Given the description of an element on the screen output the (x, y) to click on. 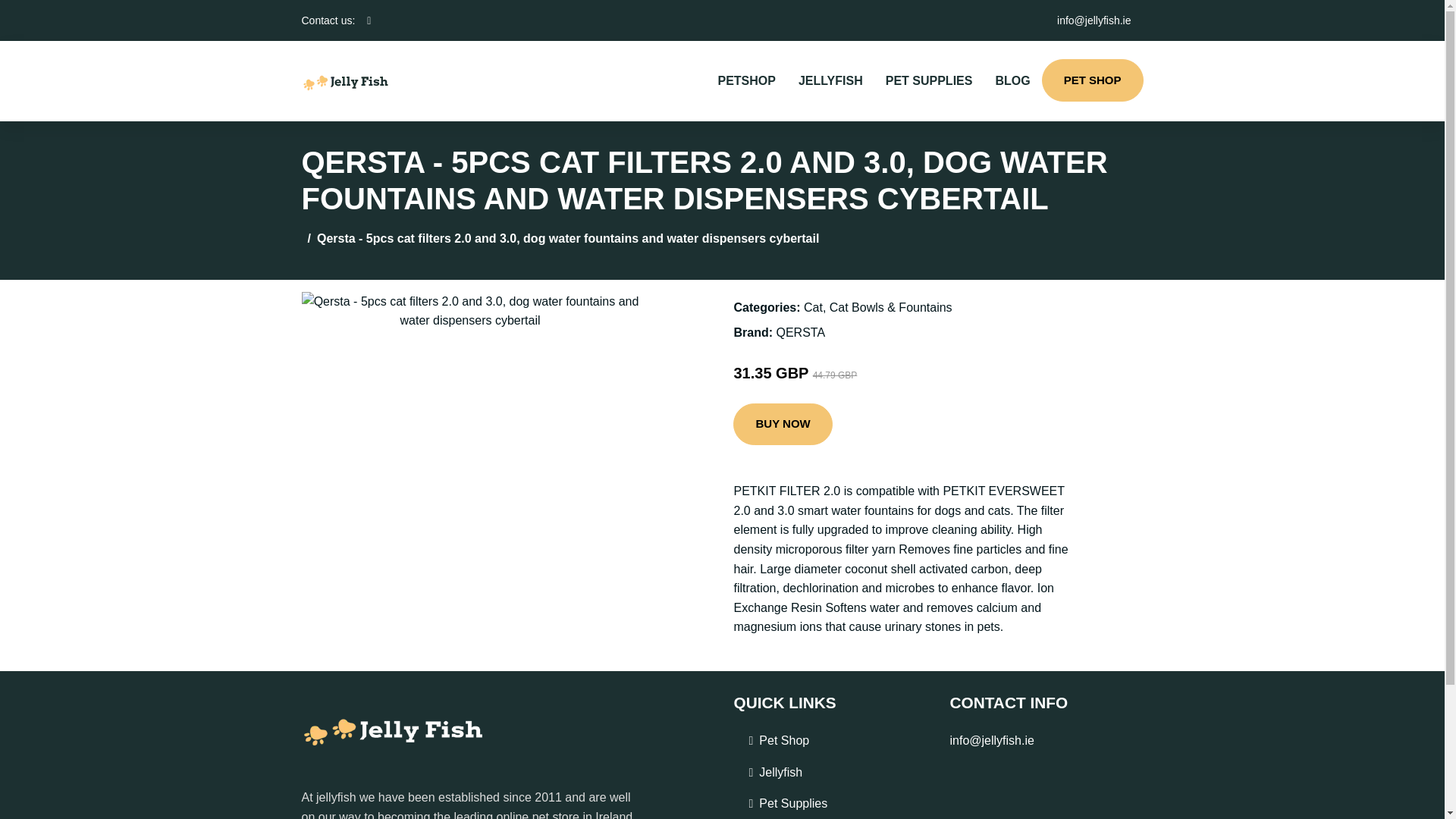
Pet Shop (783, 741)
PET SHOP (1092, 79)
PETSHOP (746, 80)
PET SUPPLIES (929, 80)
Pet Supplies (792, 803)
Jellyfish (780, 772)
BUY NOW (782, 424)
Cat (812, 307)
JELLYFISH (831, 80)
